Given the description of an element on the screen output the (x, y) to click on. 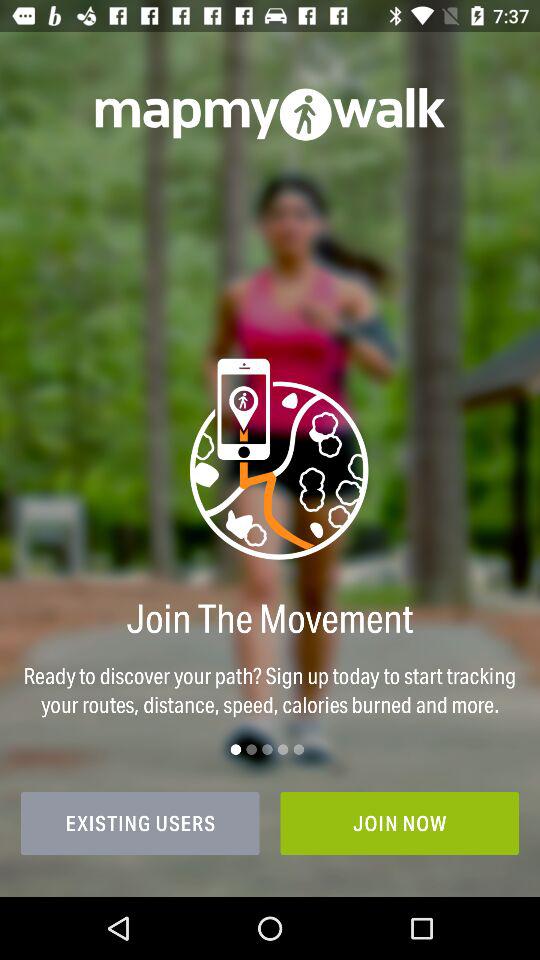
swipe until existing users (140, 823)
